Given the description of an element on the screen output the (x, y) to click on. 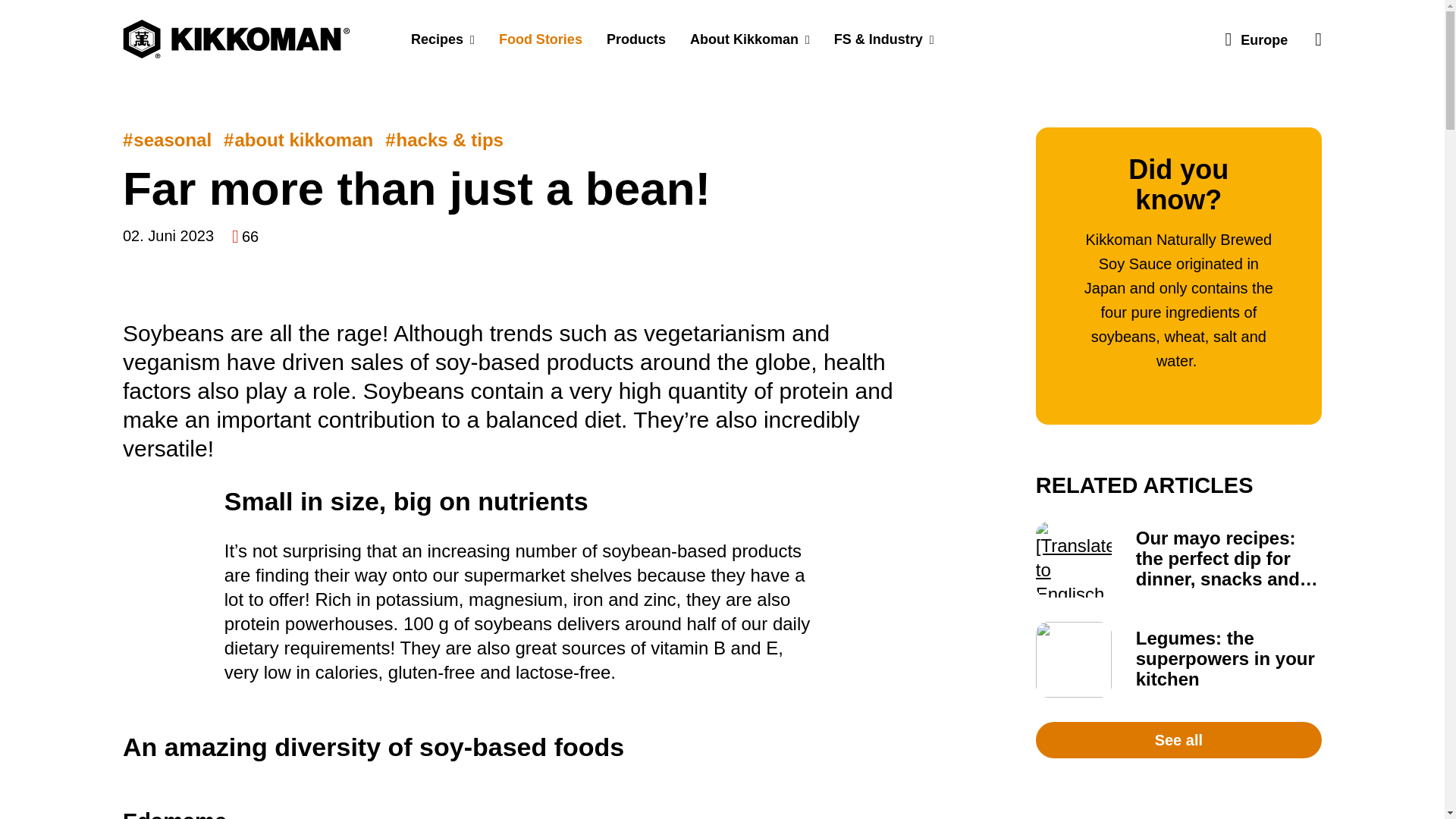
About Kikkoman (750, 39)
Food Stories (540, 39)
Products (636, 39)
Recipes (442, 39)
Recipes (442, 39)
